Given the description of an element on the screen output the (x, y) to click on. 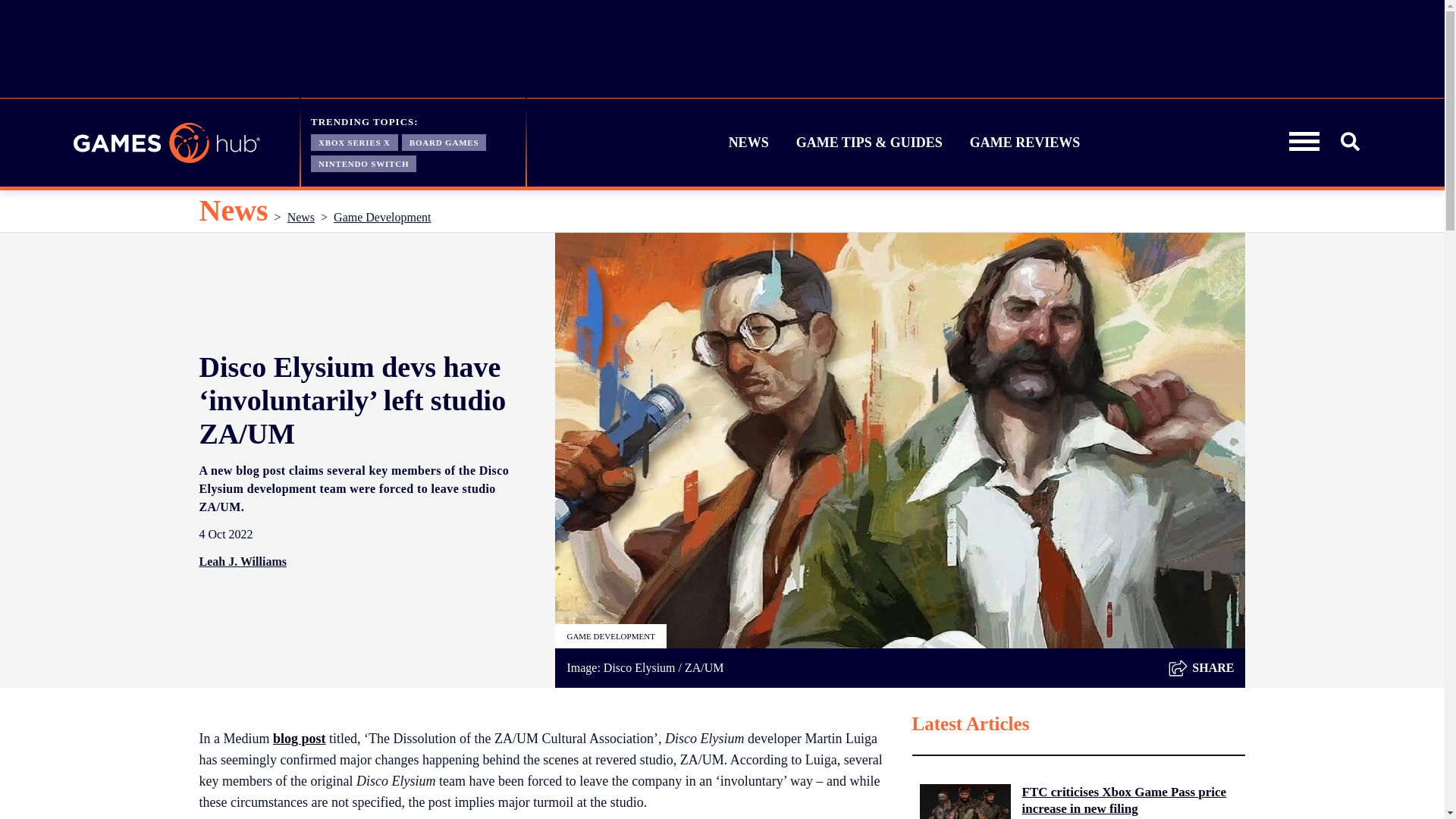
NINTENDO SWITCH (363, 162)
NEWS (748, 142)
BOARD GAMES (443, 141)
GAME REVIEWS (1025, 142)
XBOX SERIES X (354, 141)
